Given the description of an element on the screen output the (x, y) to click on. 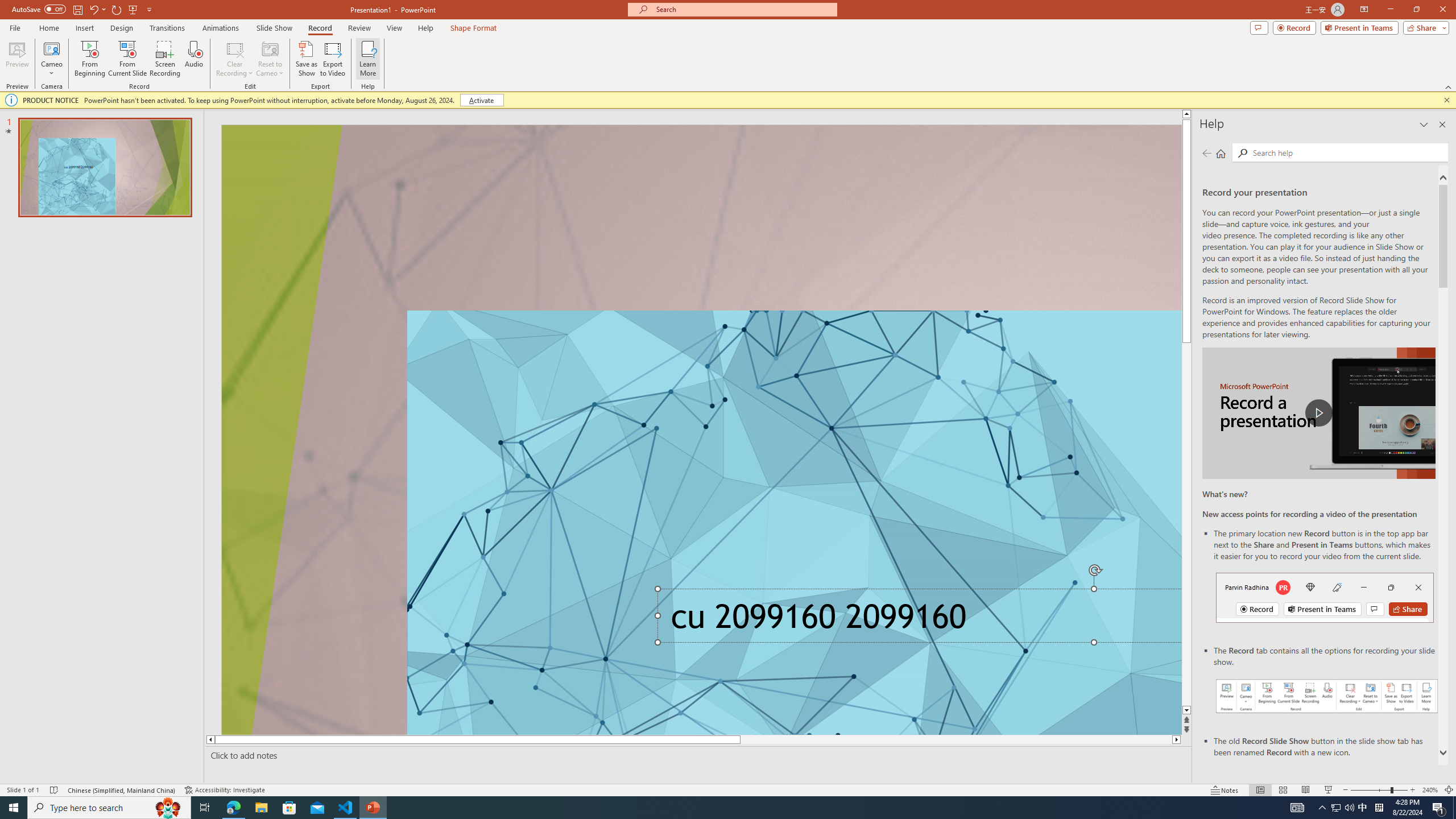
Record your presentations screenshot one (1326, 695)
play Record a Presentation (1318, 412)
TextBox 61 (916, 620)
